Given the description of an element on the screen output the (x, y) to click on. 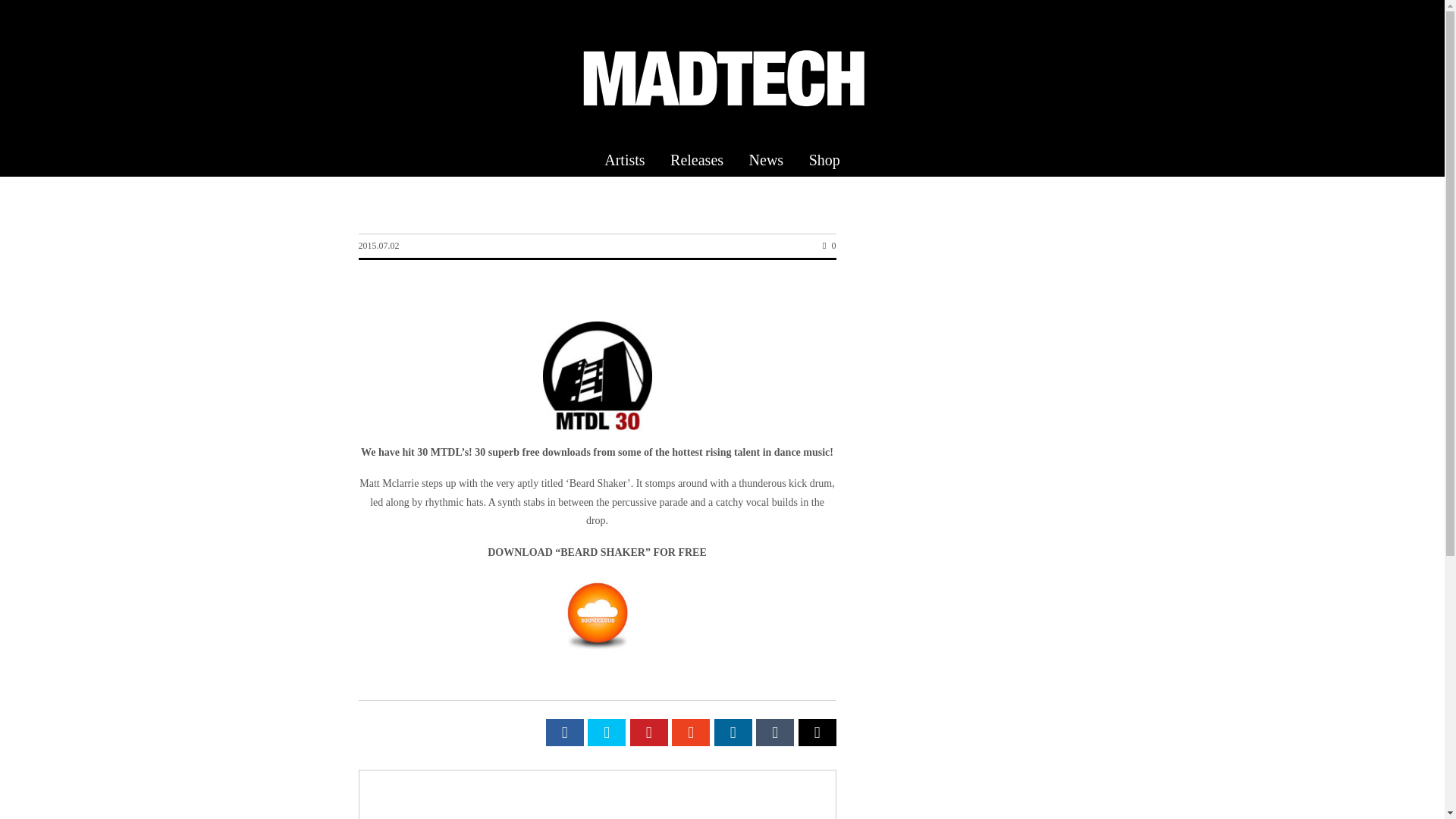
Artists (624, 159)
Shop (824, 159)
Releases (697, 159)
News (766, 159)
